Given the description of an element on the screen output the (x, y) to click on. 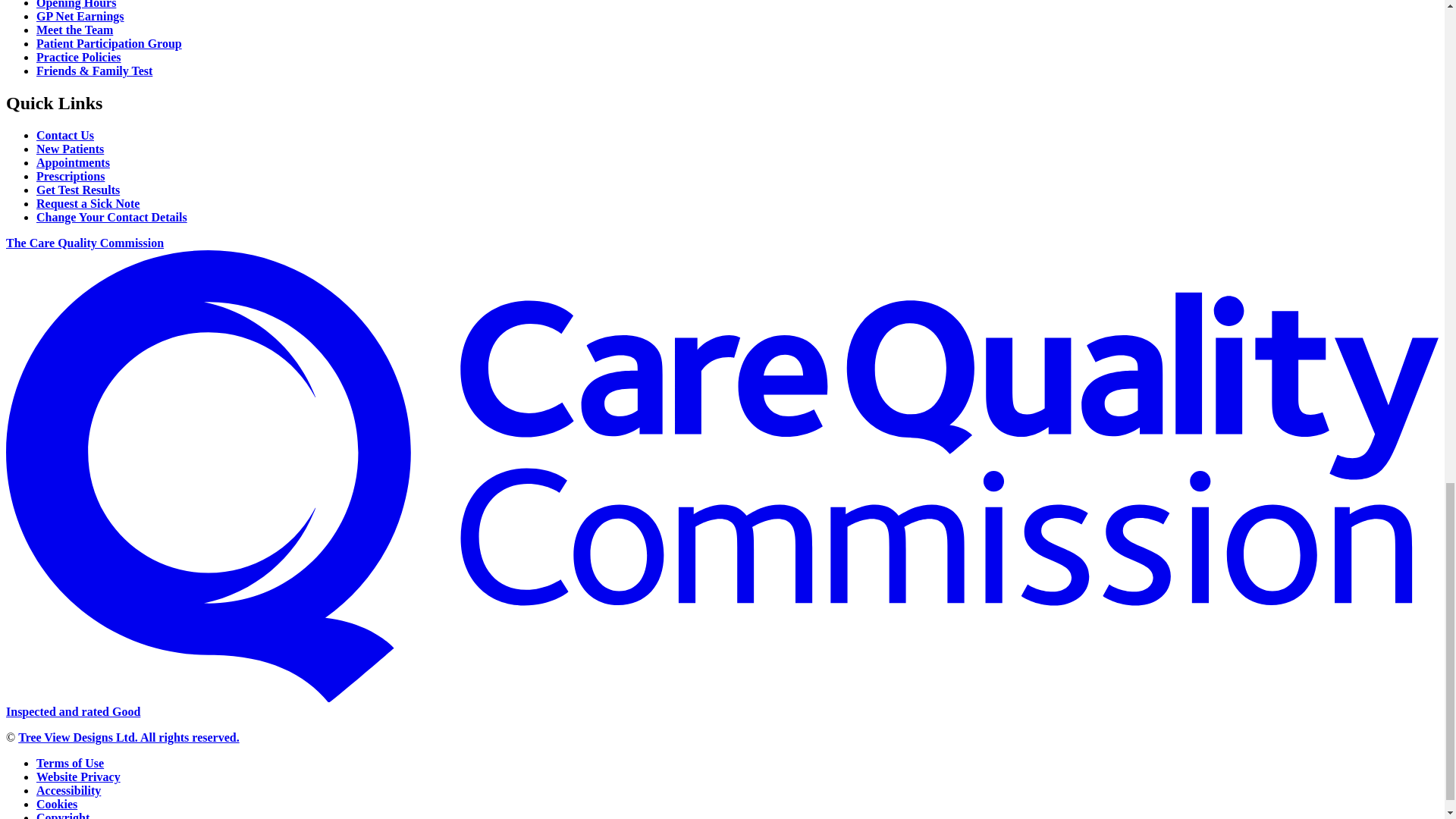
Get Test Results (77, 189)
Change Your Contact Details (111, 216)
Cookies (56, 803)
Request a Sick Note (87, 203)
GP Net Earnings (79, 15)
Appointments (73, 162)
Opening Hours (76, 4)
Website Privacy (78, 776)
Meet the Team (74, 29)
Contact Us (65, 134)
Accessibility (68, 789)
Patient Participation Group (109, 42)
Tree View Designs Ltd. All rights reserved. (128, 737)
Practice Policies (78, 56)
Terms of Use (69, 762)
